Given the description of an element on the screen output the (x, y) to click on. 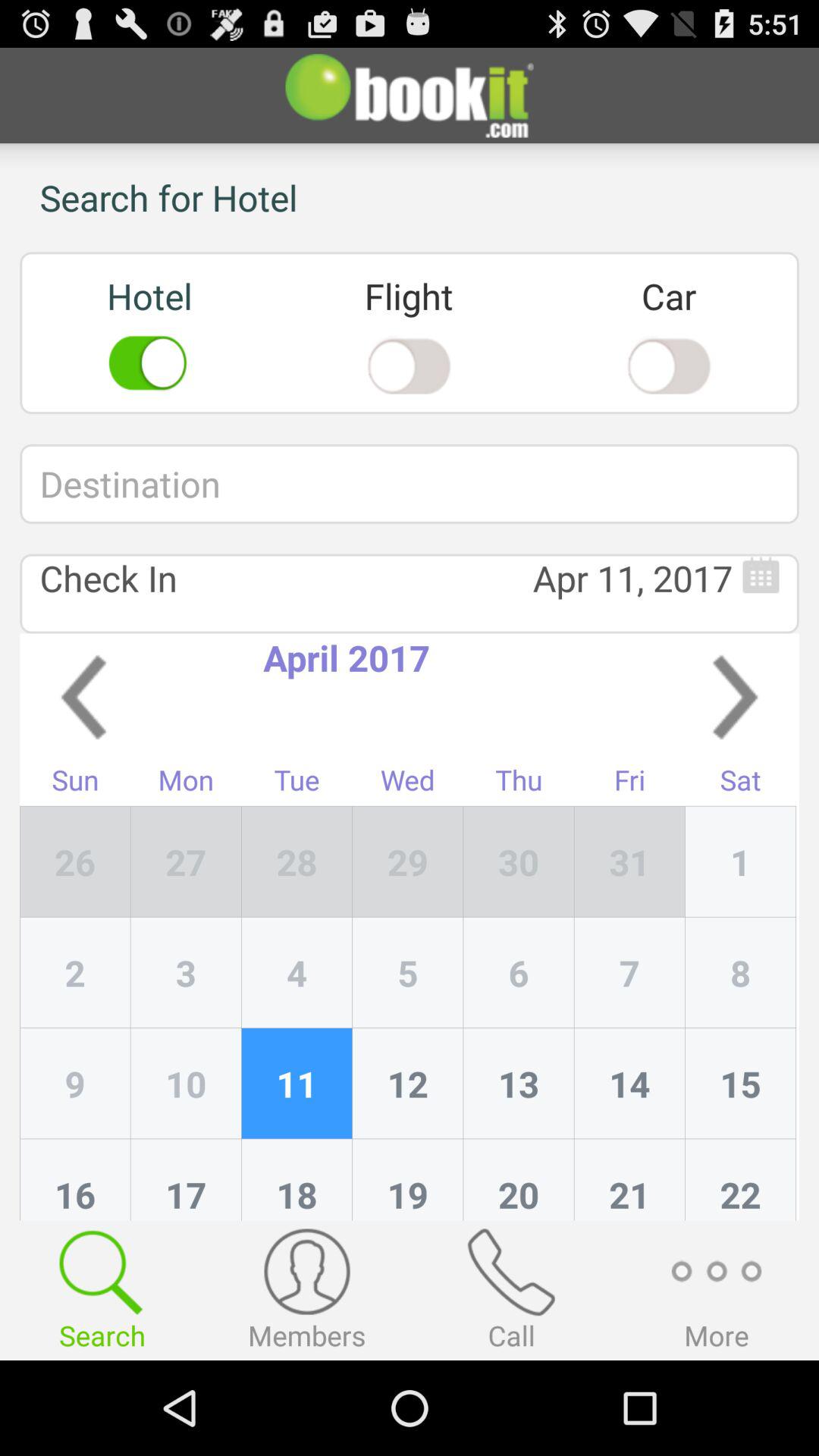
jump until the 17 icon (185, 1179)
